Given the description of an element on the screen output the (x, y) to click on. 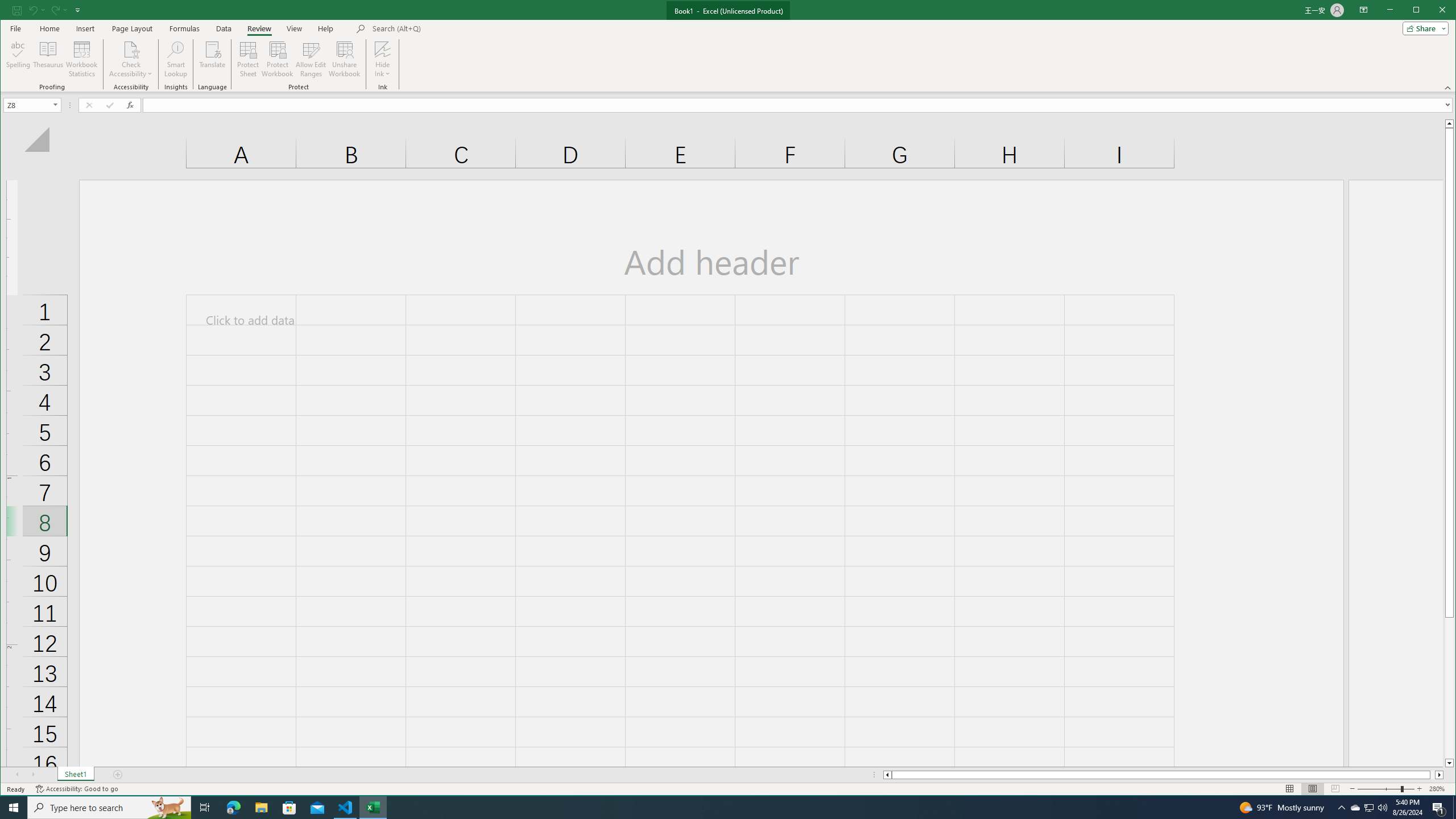
Type here to search (108, 807)
Allow Edit Ranges (310, 59)
Translate (212, 59)
Microsoft Edge (233, 807)
Protect Sheet... (247, 59)
Q2790: 100% (1382, 807)
Running applications (717, 807)
Smart Lookup (176, 59)
